Given the description of an element on the screen output the (x, y) to click on. 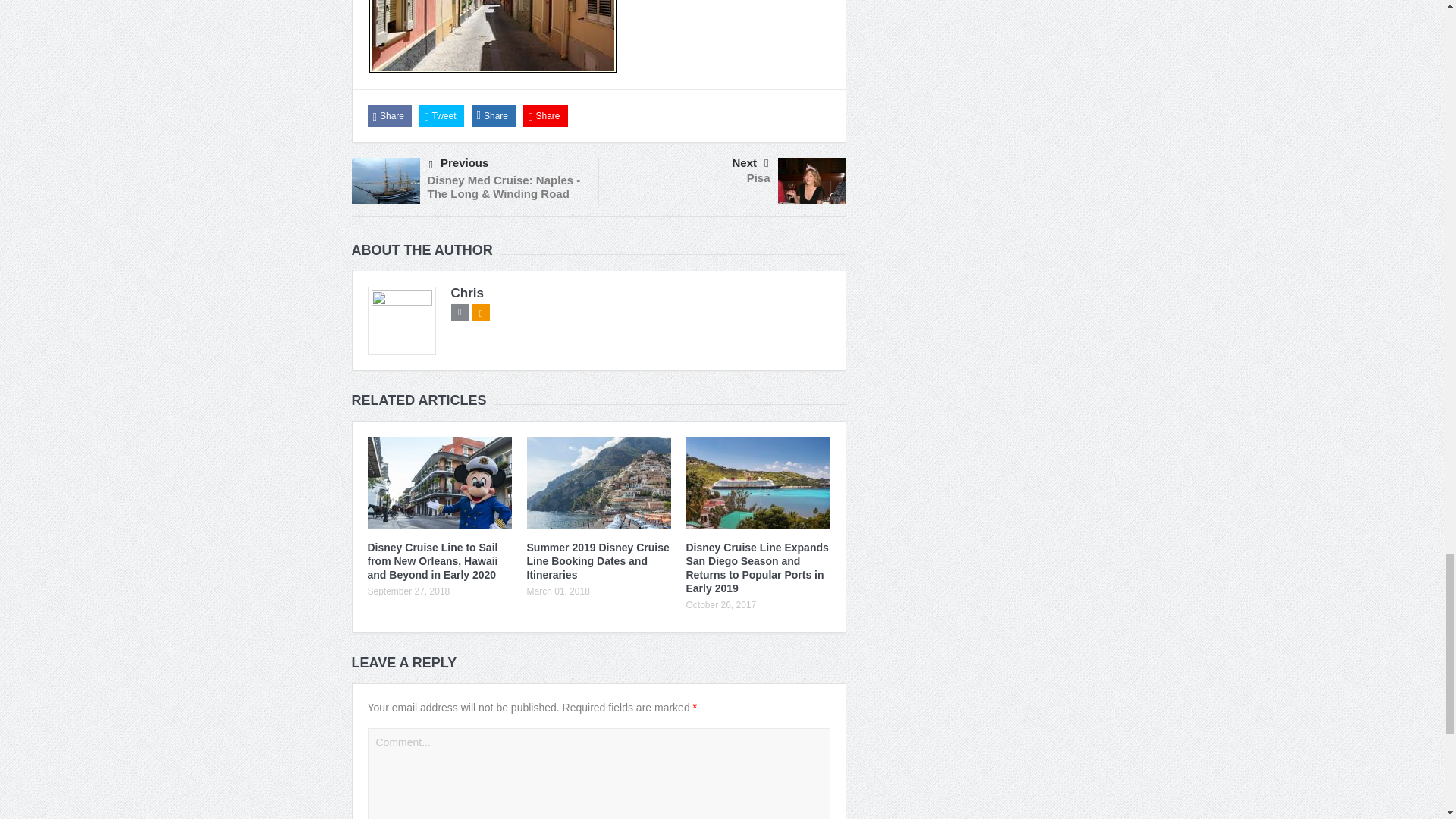
Next (690, 162)
Chris (466, 292)
Previous (508, 163)
Summer 2019 Disney Cruise Line Booking Dates and Itineraries (596, 560)
Pisa (758, 177)
